Given the description of an element on the screen output the (x, y) to click on. 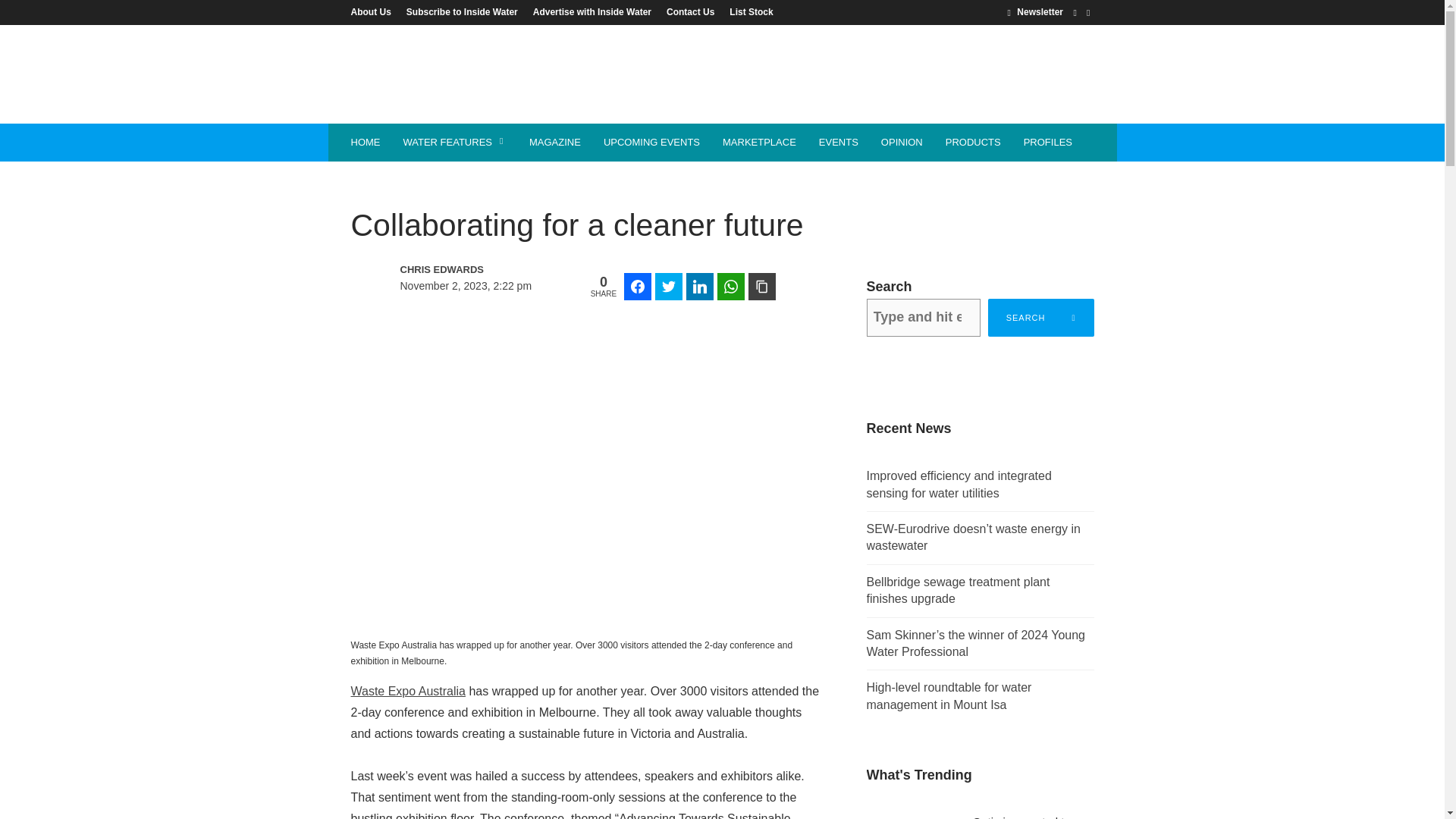
WATER FEATURES (453, 142)
Share on Copy Link (762, 286)
OPINION (901, 142)
Share on  (792, 286)
Newsletter (1034, 11)
Subscribe to Inside Water (461, 11)
CHRIS EDWARDS (465, 269)
Contact Us (690, 11)
EVENTS (838, 142)
MAGAZINE (555, 142)
